Given the description of an element on the screen output the (x, y) to click on. 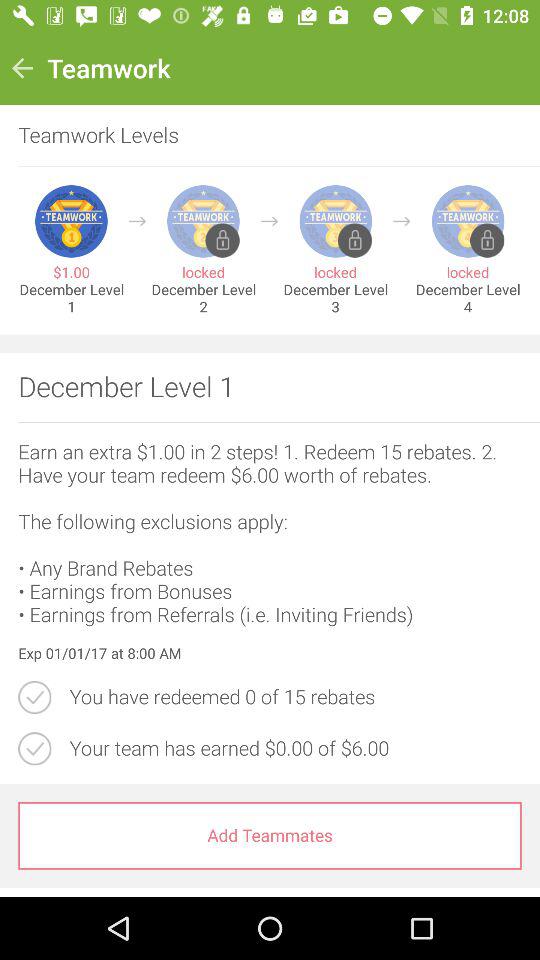
turn off teamwork levels (260, 135)
